Given the description of an element on the screen output the (x, y) to click on. 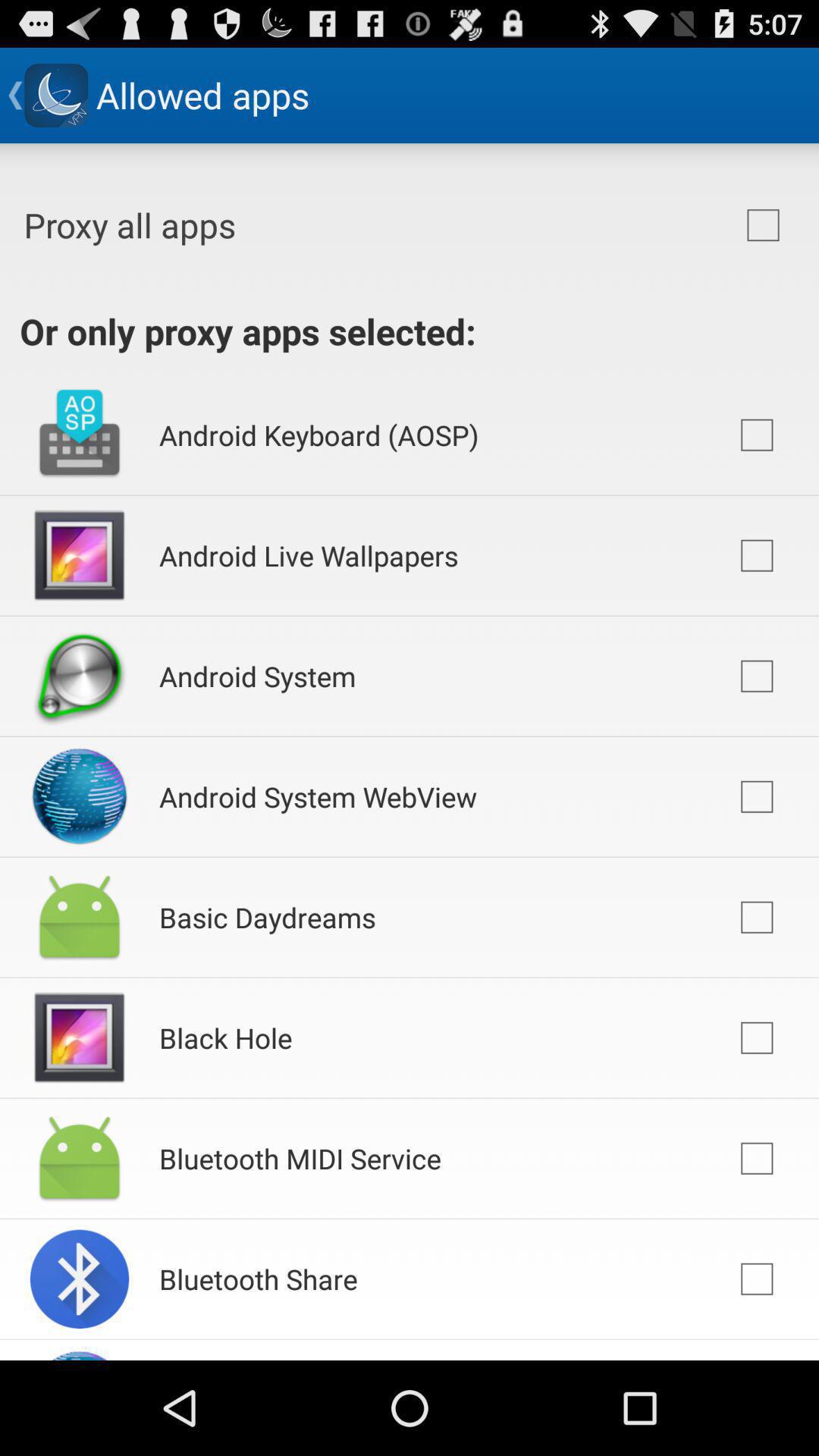
open icon above the black hole item (267, 917)
